Given the description of an element on the screen output the (x, y) to click on. 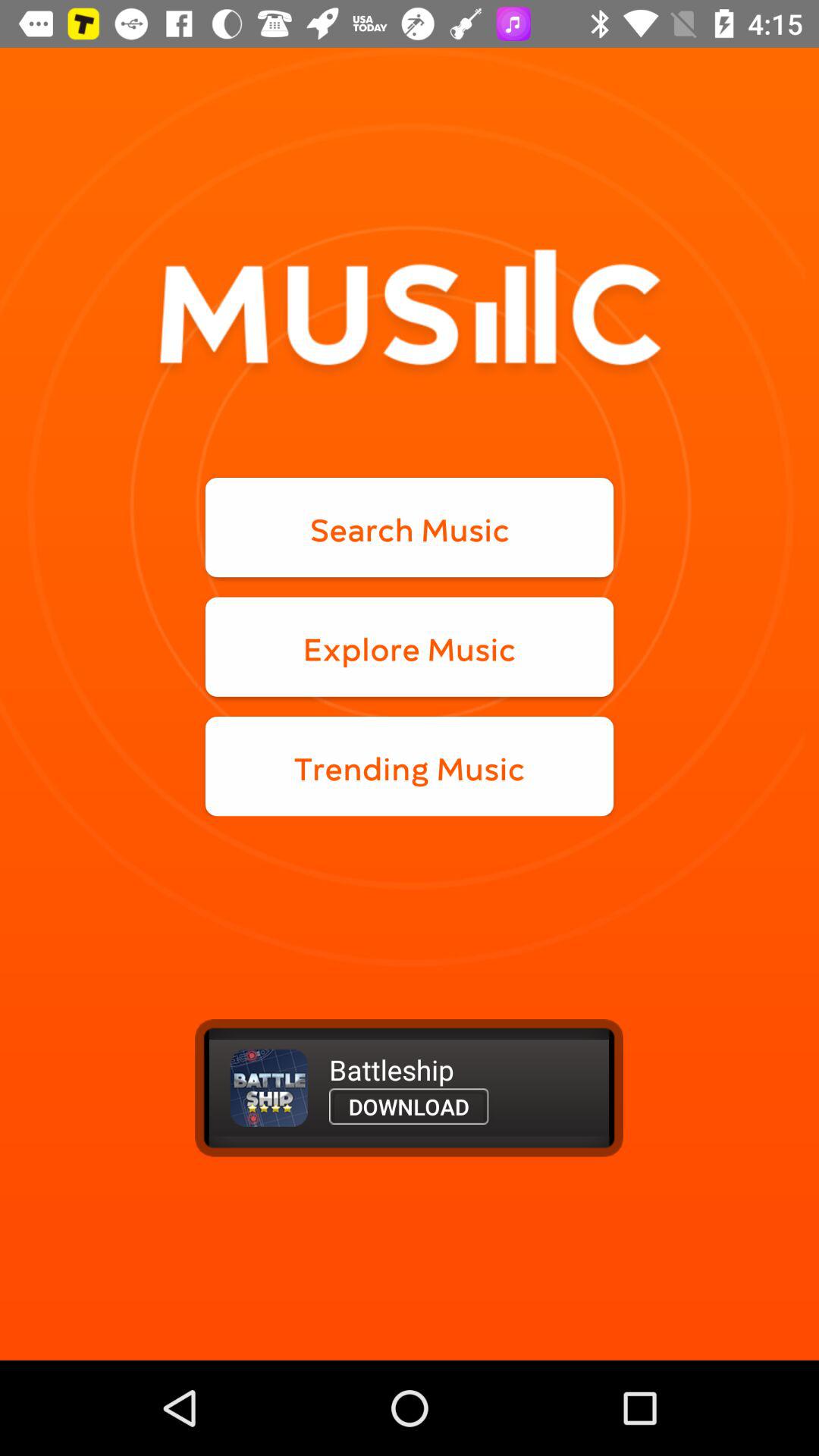
select search music (409, 527)
